Given the description of an element on the screen output the (x, y) to click on. 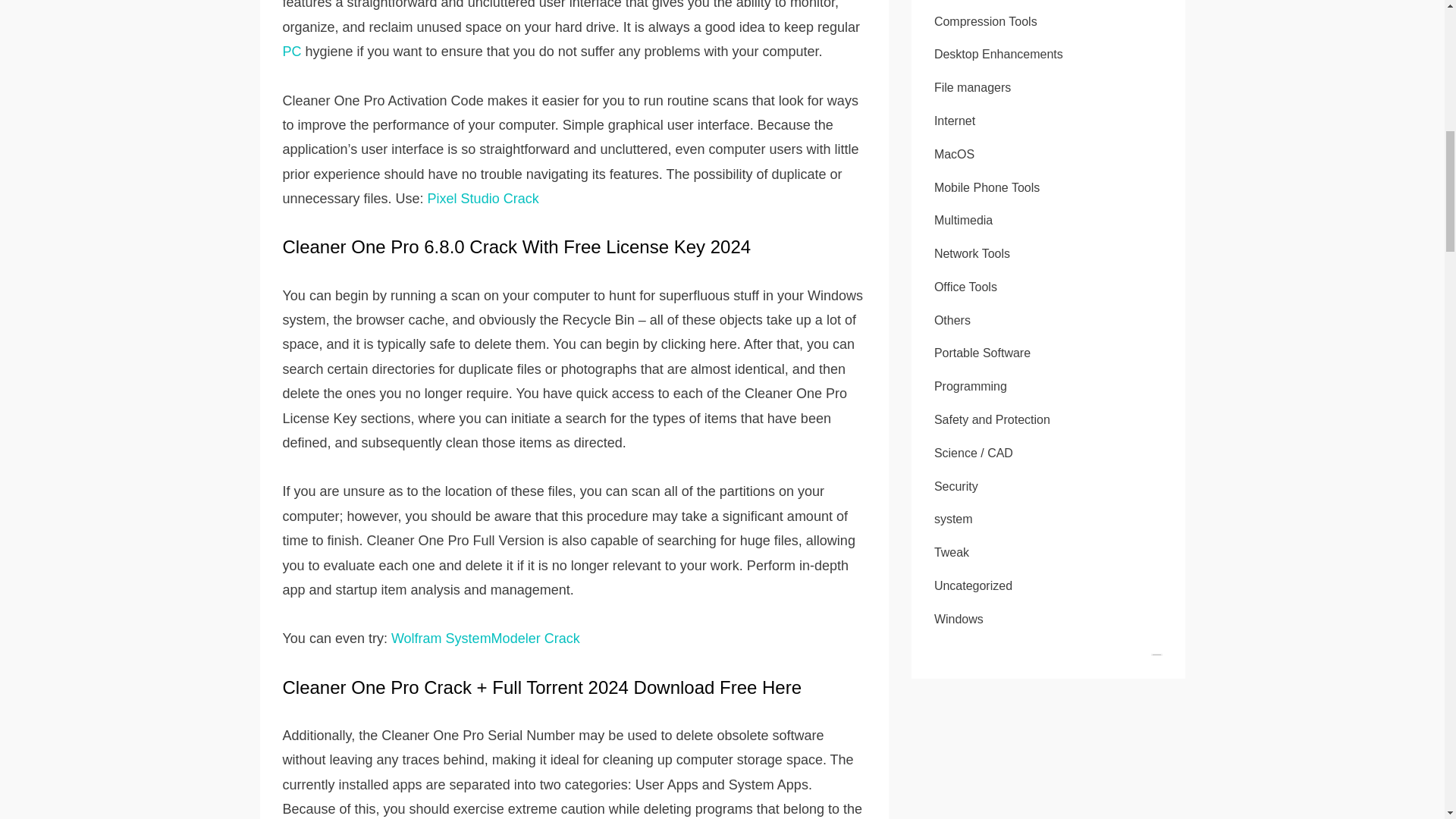
Pixel Studio Crack (483, 198)
Wolfram SystemModeler Crack (485, 638)
PC (291, 51)
